Given the description of an element on the screen output the (x, y) to click on. 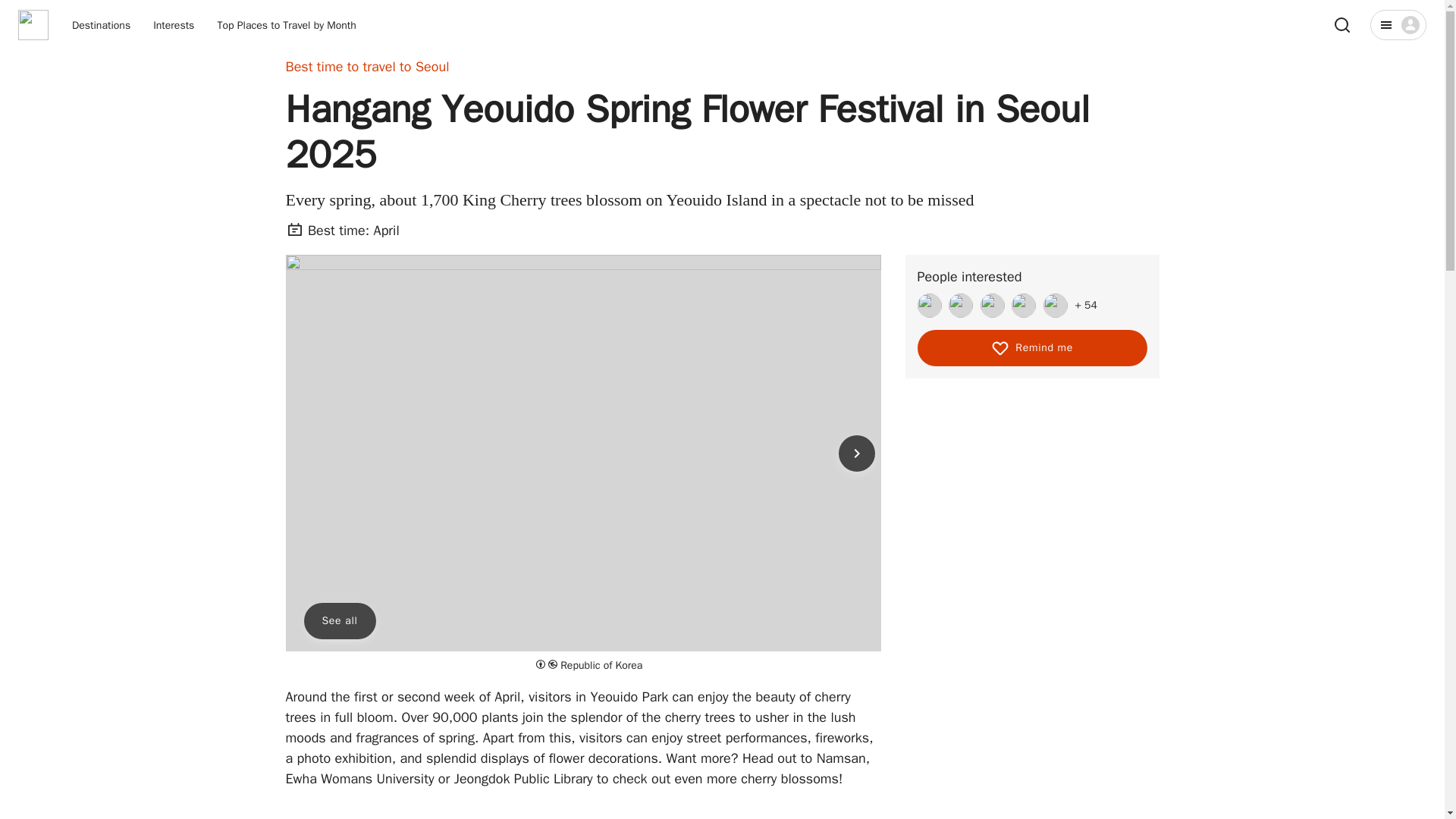
Lyvonne Cyrene Jones (991, 305)
Menu (1398, 24)
Noemi Santiago (1055, 305)
See all (338, 620)
Miranda Pham (929, 305)
Next (856, 452)
Top Places to Travel by Month (286, 24)
Mar Marzura (1023, 305)
Remind me (1032, 348)
Interests (173, 24)
